Given the description of an element on the screen output the (x, y) to click on. 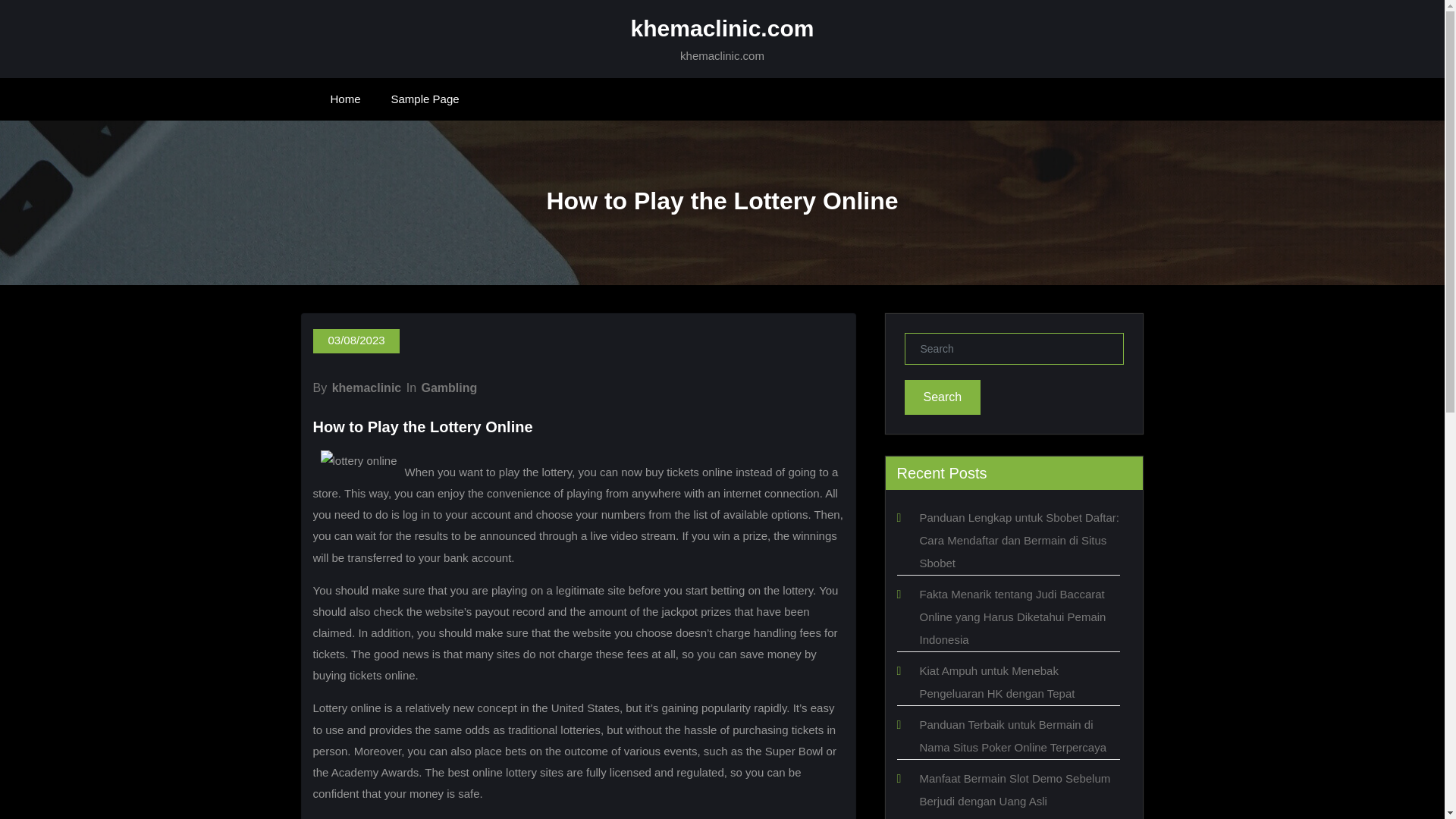
khemaclinic (366, 387)
Gambling (449, 387)
Home (345, 98)
Manfaat Bermain Slot Demo Sebelum Berjudi dengan Uang Asli (1013, 789)
Search (941, 397)
khemaclinic.com (721, 27)
Home (345, 98)
Kiat Ampuh untuk Menebak Pengeluaran HK dengan Tepat (996, 682)
Sample Page (424, 98)
